Given the description of an element on the screen output the (x, y) to click on. 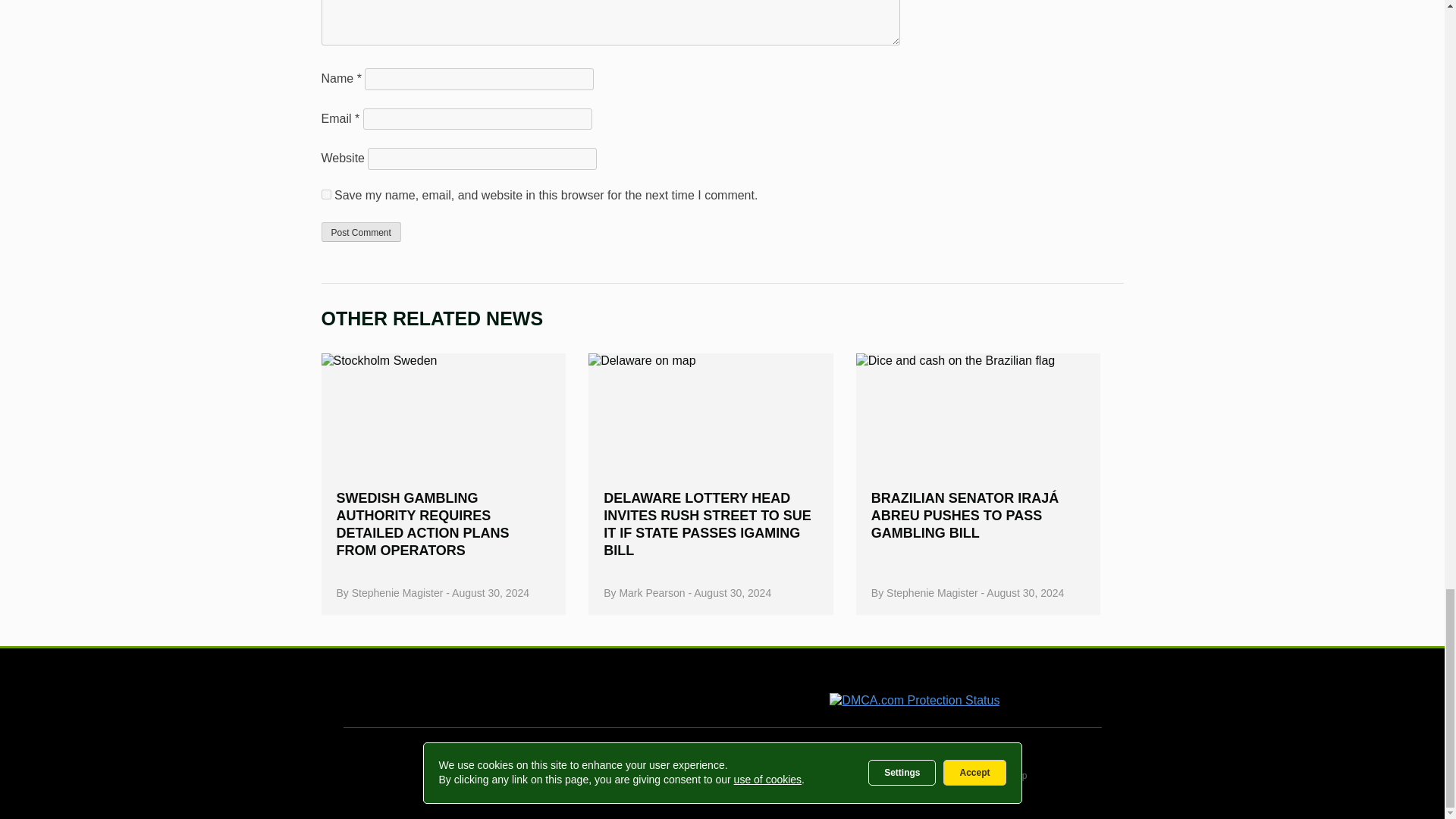
Gamcare (496, 693)
Post Comment (361, 231)
Post Comment (361, 231)
Ecogra (744, 692)
yes (326, 194)
Gambleaware (633, 692)
DMCA.com Protection Status (913, 699)
